Given the description of an element on the screen output the (x, y) to click on. 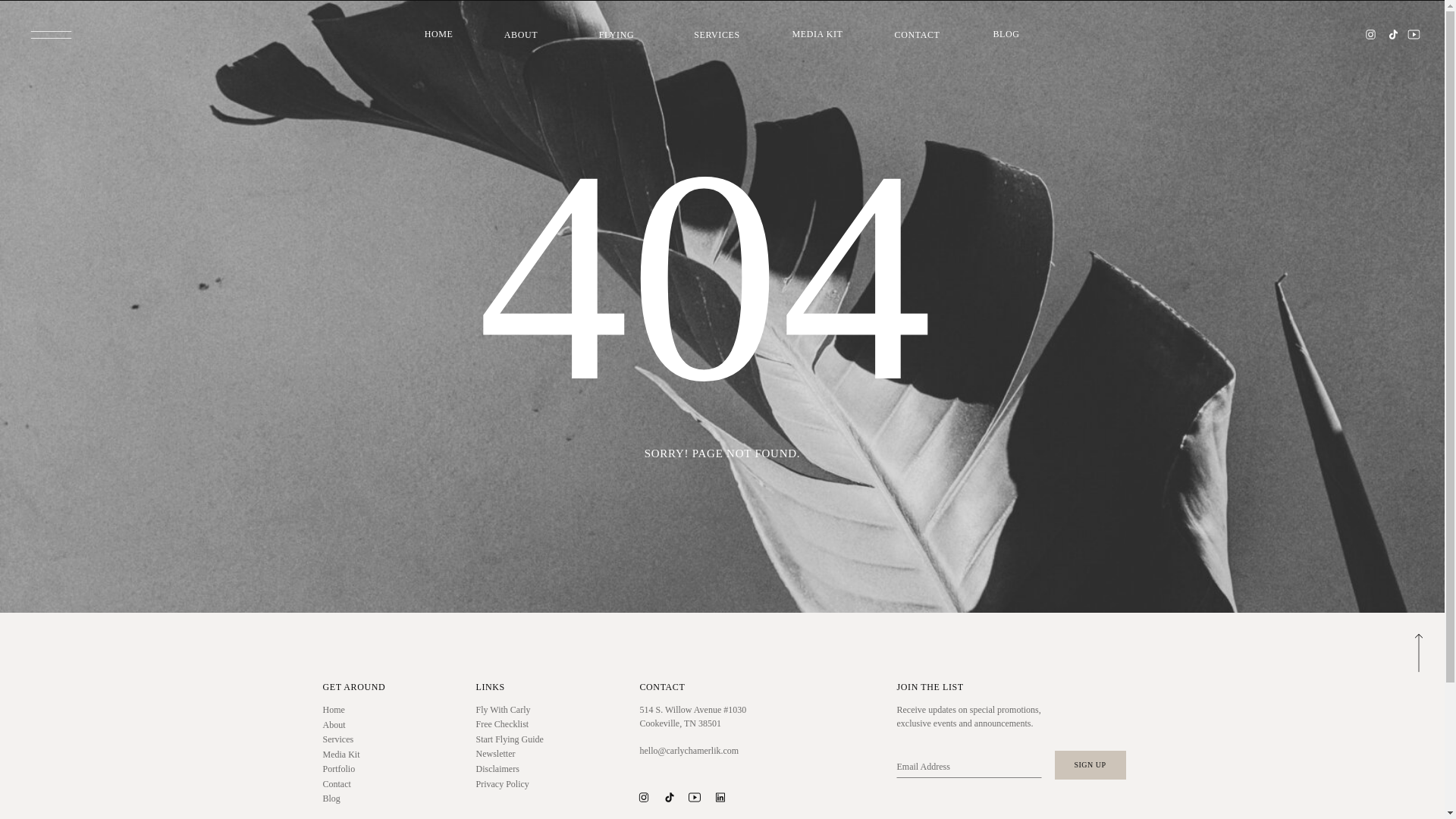
Disclaimers (517, 768)
Services (364, 739)
Media Kit (364, 754)
Fly With Carly (517, 709)
CONTACT (917, 35)
Home (364, 709)
ABOUT (520, 35)
Newsletter (517, 753)
Free Checklist (517, 724)
Contact (364, 784)
